Given the description of an element on the screen output the (x, y) to click on. 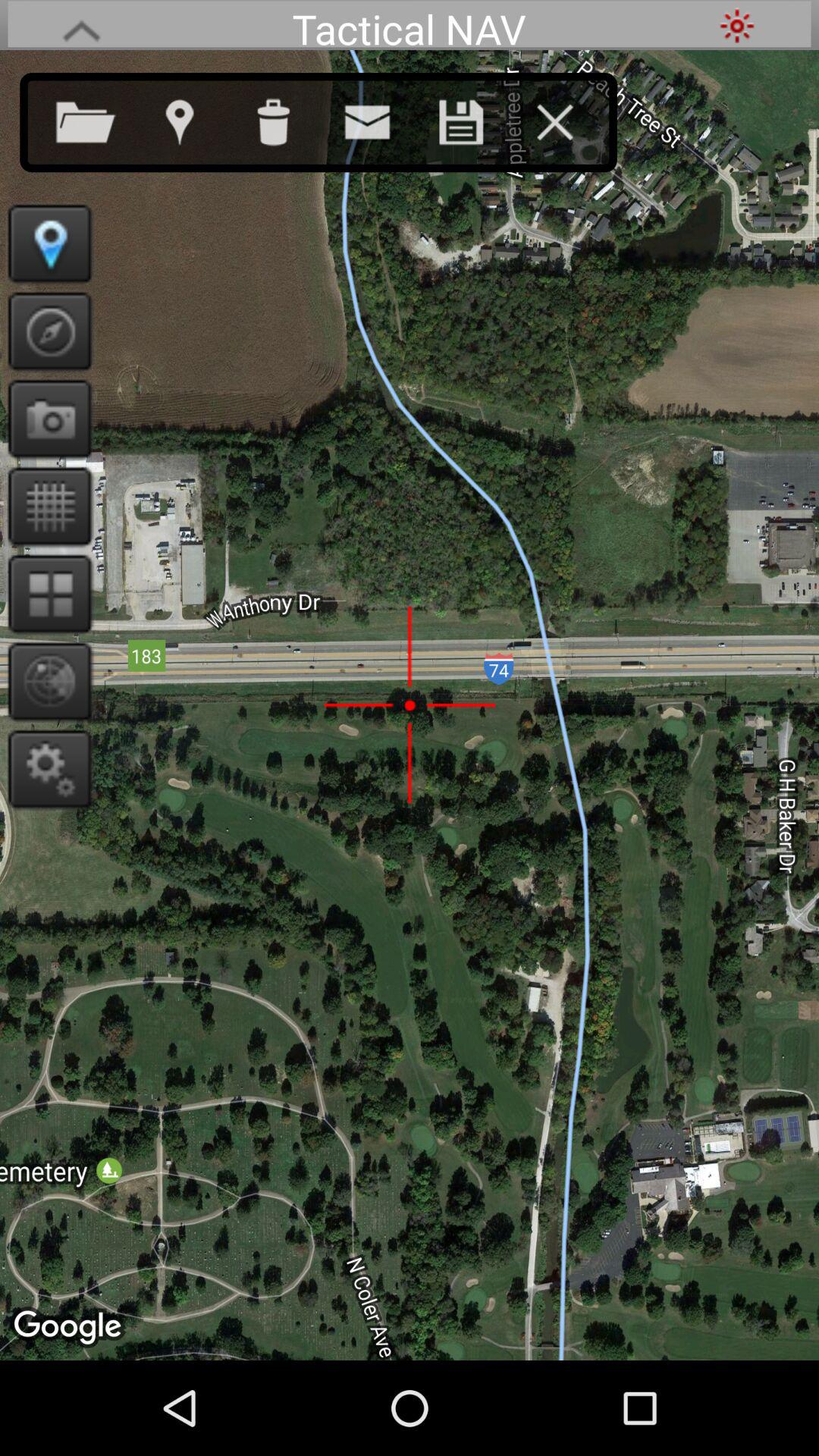
hide menu (570, 119)
